Given the description of an element on the screen output the (x, y) to click on. 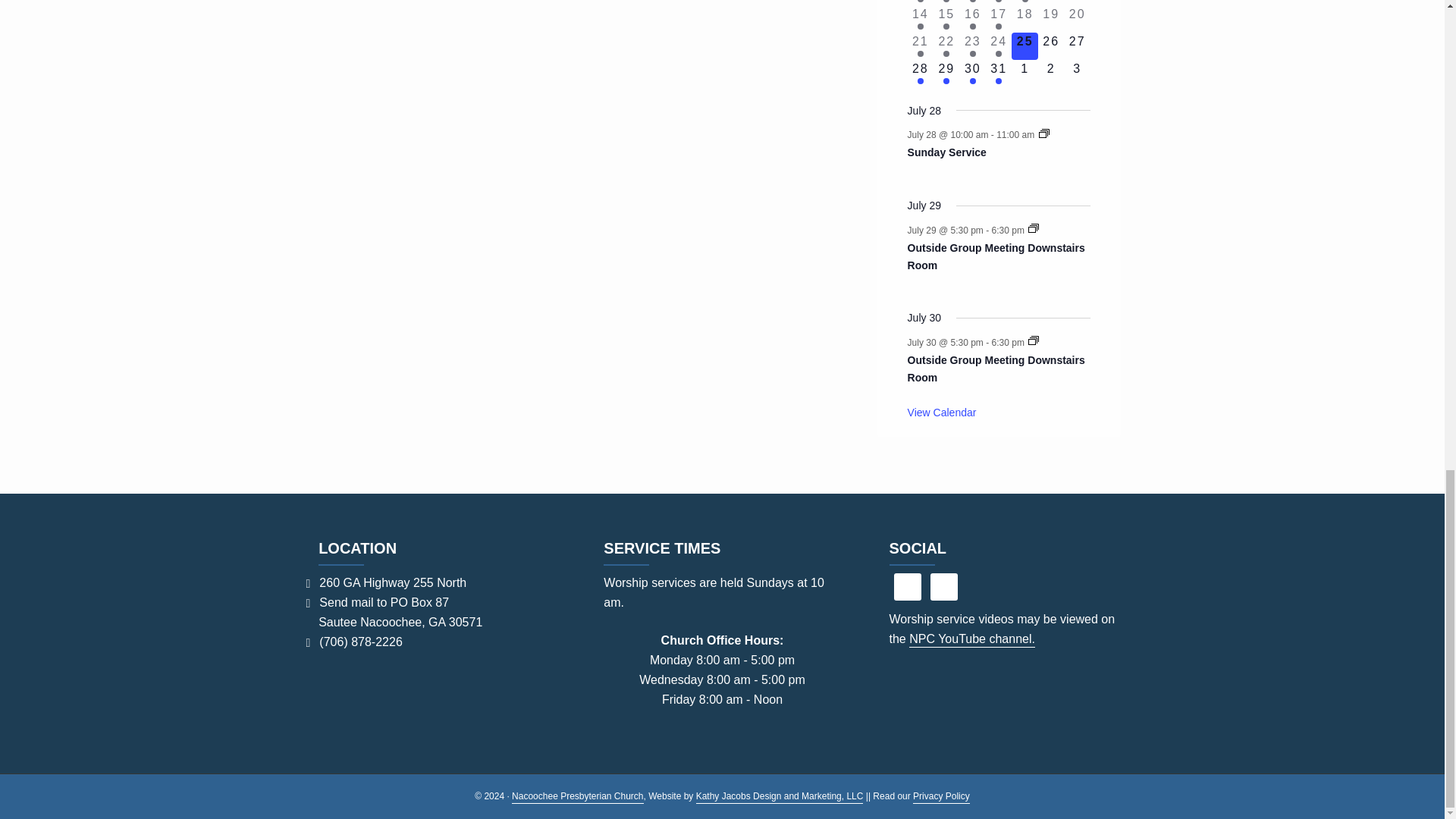
Event Series (1044, 133)
Event Series (1033, 339)
Event Series (1033, 227)
